Given the description of an element on the screen output the (x, y) to click on. 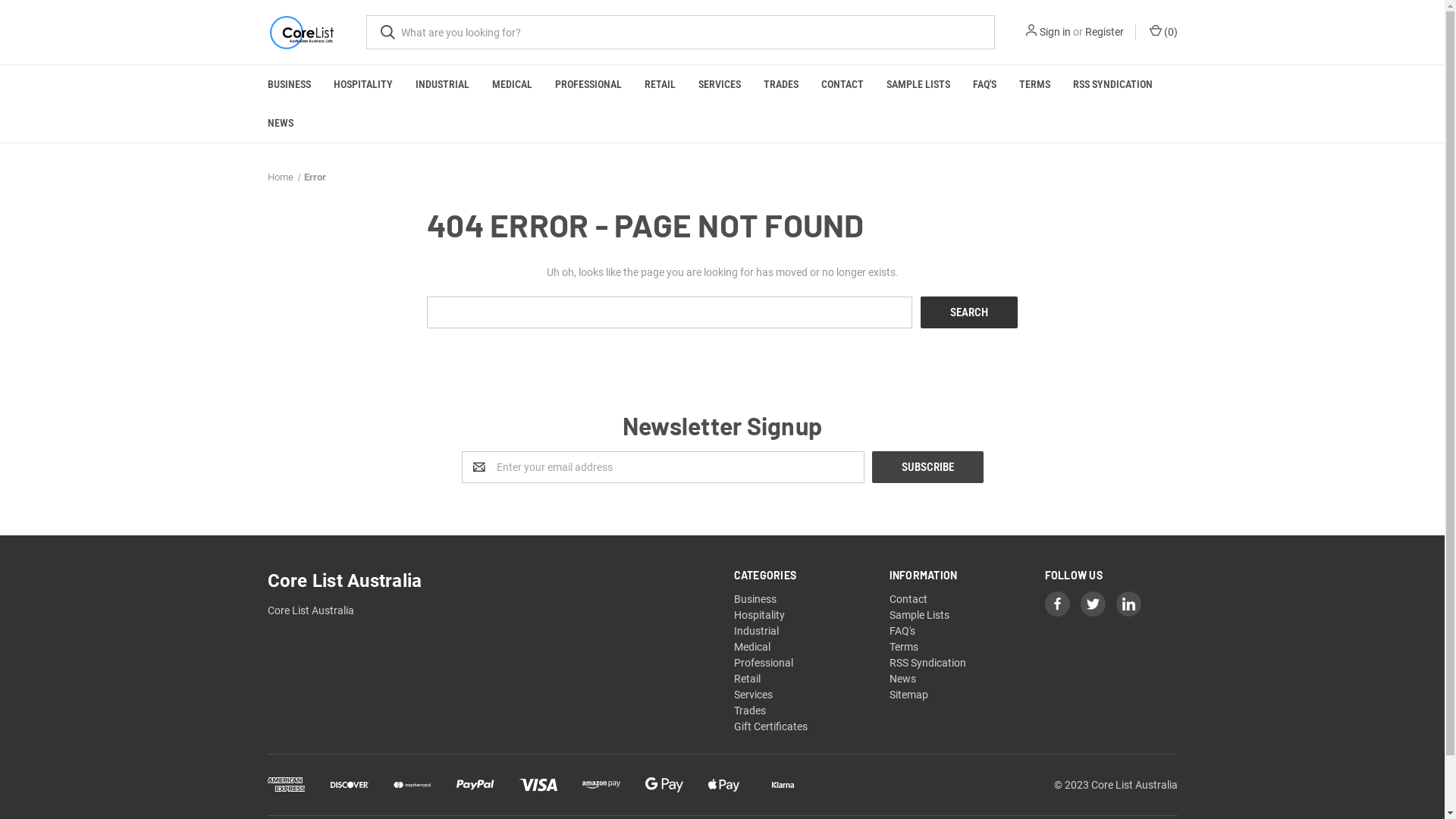
Sample Lists Element type: text (919, 614)
SERVICES Element type: text (719, 84)
Home Element type: text (279, 176)
MEDICAL Element type: text (511, 84)
Business Element type: text (755, 599)
HOSPITALITY Element type: text (362, 84)
NEWS Element type: text (280, 122)
FAQ's Element type: text (902, 630)
RSS Syndication Element type: text (927, 662)
Hospitality Element type: text (759, 614)
SAMPLE LISTS Element type: text (918, 84)
Core List Australia Element type: hover (300, 32)
Industrial Element type: text (756, 630)
Sign in Element type: text (1054, 32)
Contact Element type: text (908, 599)
PROFESSIONAL Element type: text (587, 84)
TRADES Element type: text (780, 84)
Services Element type: text (753, 694)
Professional Element type: text (763, 662)
TERMS Element type: text (1033, 84)
Trades Element type: text (749, 710)
INDUSTRIAL Element type: text (441, 84)
Gift Certificates Element type: text (770, 726)
BUSINESS Element type: text (289, 84)
Retail Element type: text (747, 678)
CONTACT Element type: text (842, 84)
(0) Element type: text (1161, 32)
Terms Element type: text (903, 646)
RETAIL Element type: text (659, 84)
Medical Element type: text (752, 646)
Subscribe Element type: text (927, 467)
RSS SYNDICATION Element type: text (1112, 84)
Sitemap Element type: text (908, 694)
News Element type: text (902, 678)
Register Element type: text (1103, 32)
Error Element type: text (315, 176)
Search Element type: text (968, 311)
FAQ'S Element type: text (984, 84)
